Given the description of an element on the screen output the (x, y) to click on. 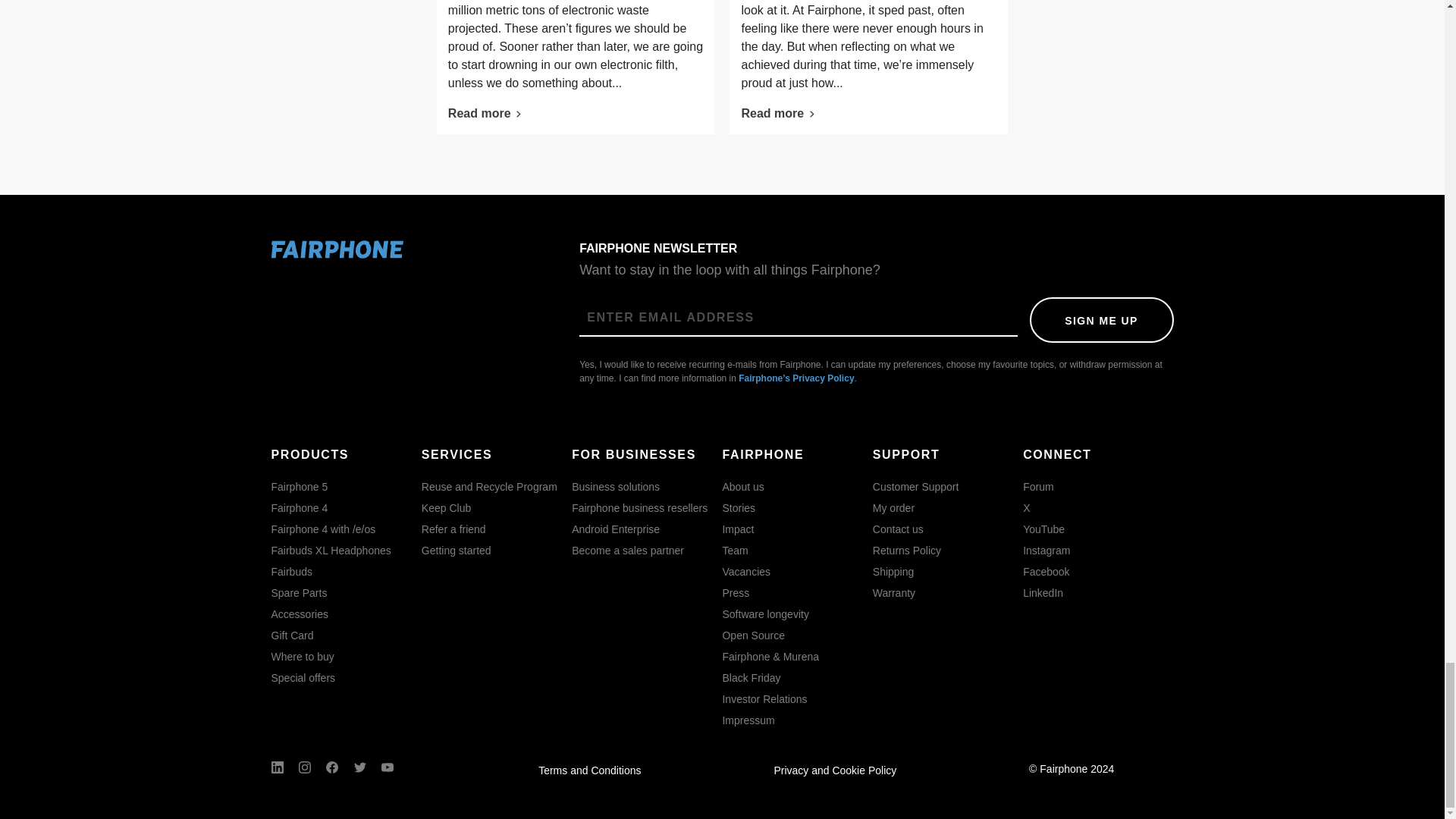
Sign me up (1101, 320)
